Given the description of an element on the screen output the (x, y) to click on. 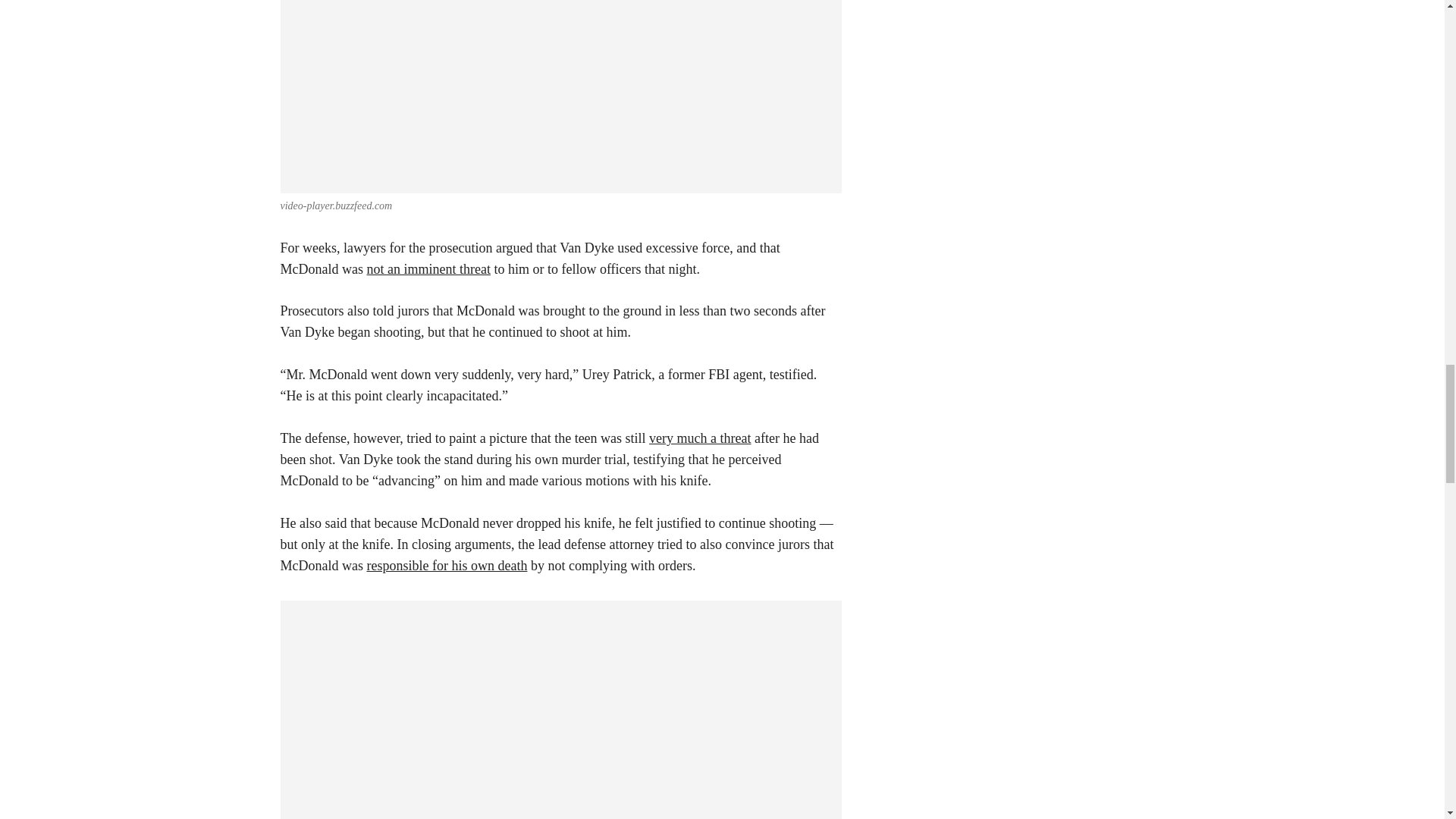
responsible for his own death (446, 565)
video-player.buzzfeed.com (337, 205)
not an imminent threat (427, 268)
very much a threat (700, 437)
